Given the description of an element on the screen output the (x, y) to click on. 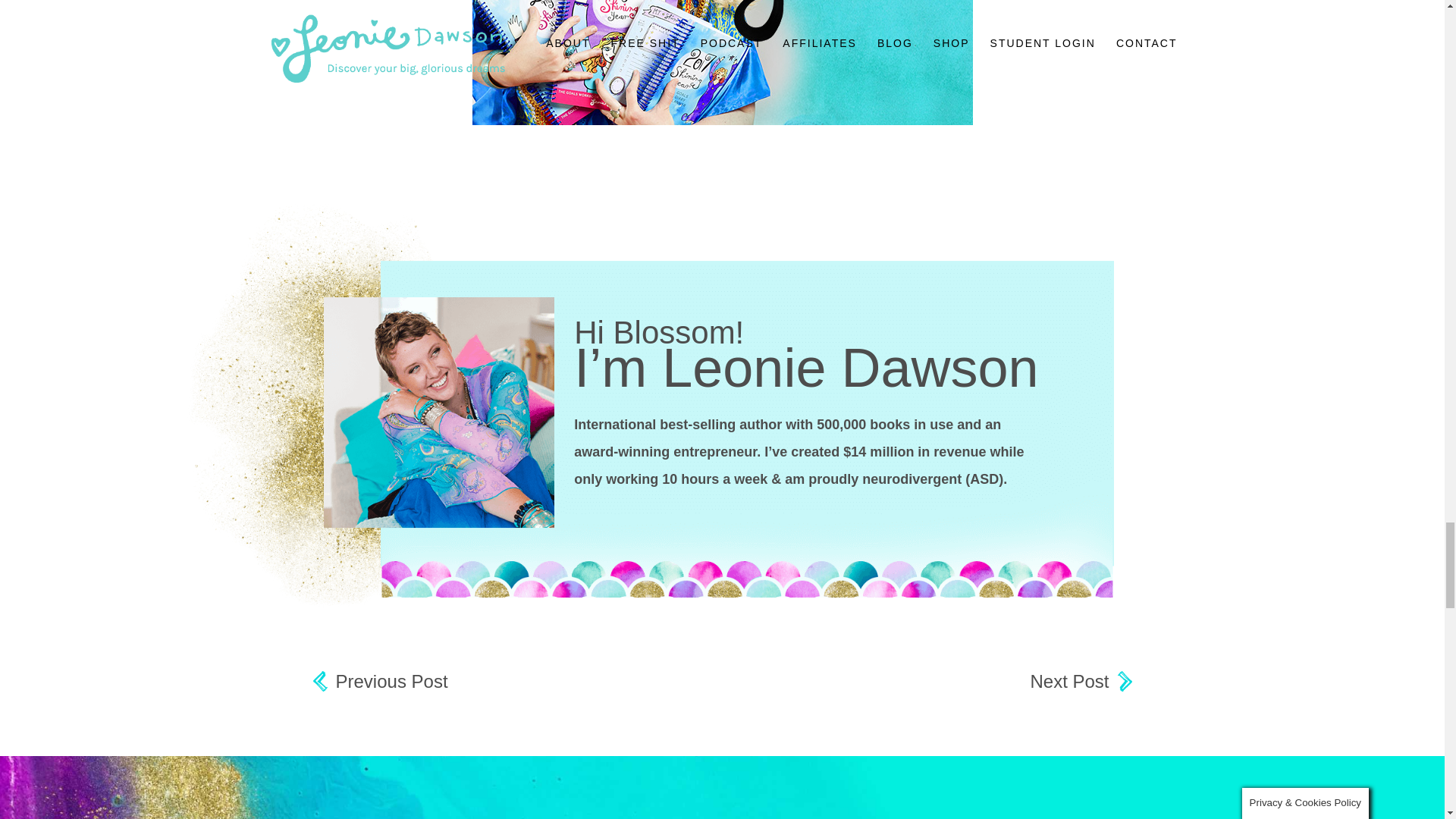
Next Post (1080, 681)
Previous Post (379, 681)
